Given the description of an element on the screen output the (x, y) to click on. 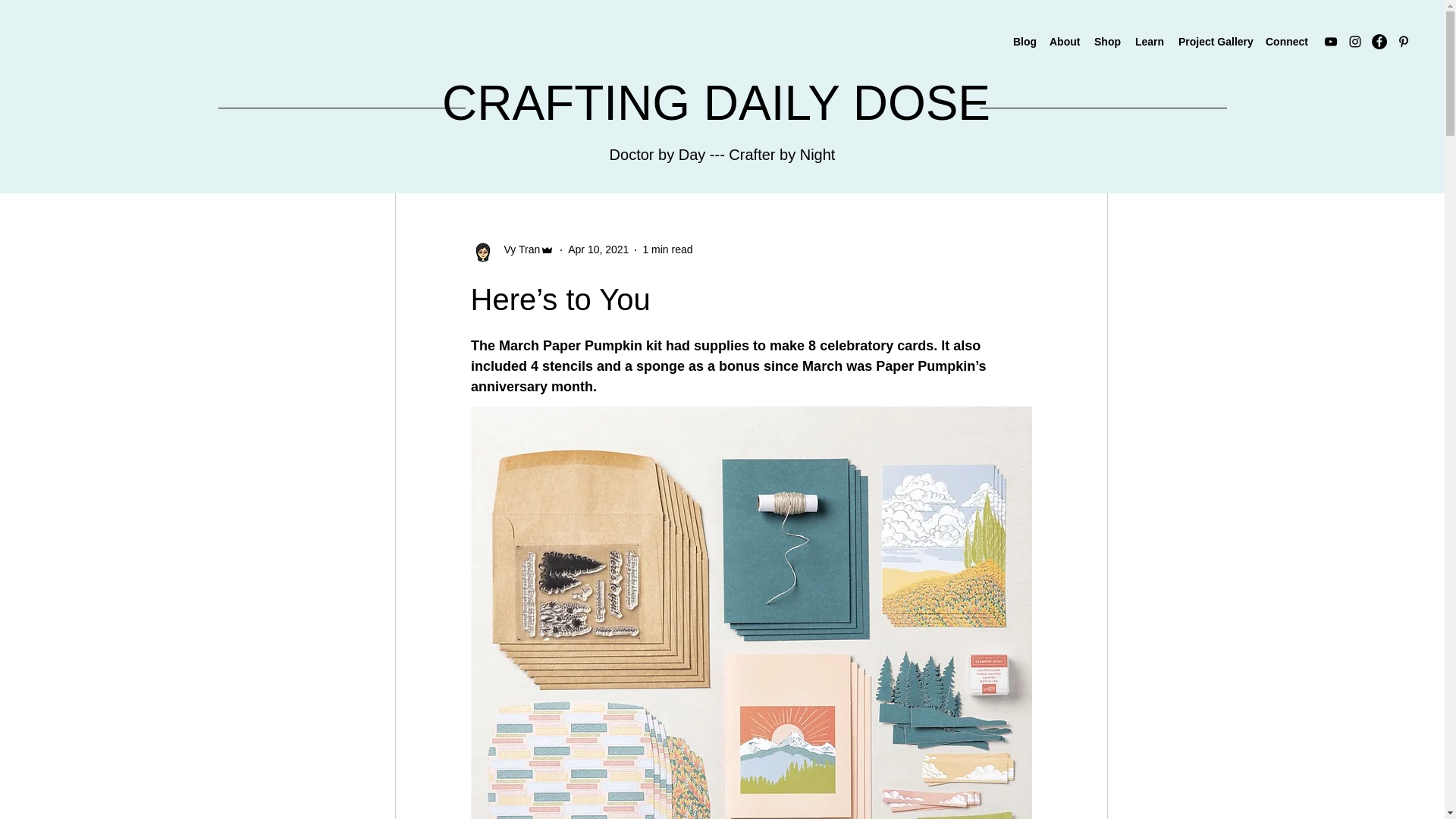
Vy Tran (517, 249)
All Posts (419, 146)
Project Gallery (1213, 41)
Sale-A-Bration (519, 146)
Blog (1024, 41)
Apr 10, 2021 (597, 249)
Connect (1285, 41)
Paper Pumpkin (636, 146)
About (1064, 41)
Tutorials (833, 146)
Workshops (744, 146)
1 min read (667, 249)
